Given the description of an element on the screen output the (x, y) to click on. 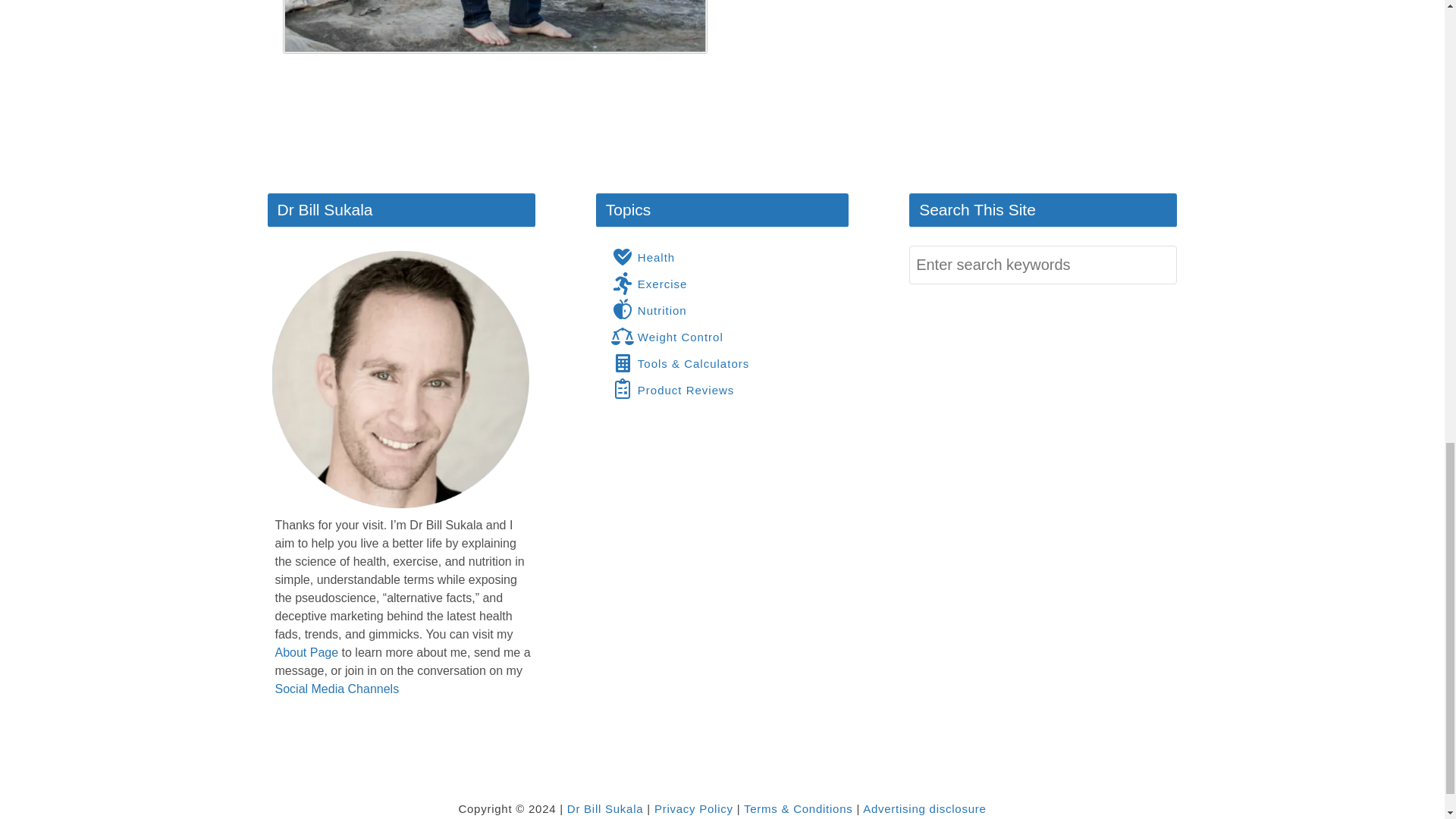
Health (643, 256)
Advertising disclosure (924, 808)
Dr Bill Sukala (605, 808)
Product Reviews (673, 389)
Social Media Channels (336, 688)
Privacy Policy (693, 808)
About Page (306, 652)
Search for: (1042, 264)
Exercise (649, 282)
Nutrition (649, 309)
